Given the description of an element on the screen output the (x, y) to click on. 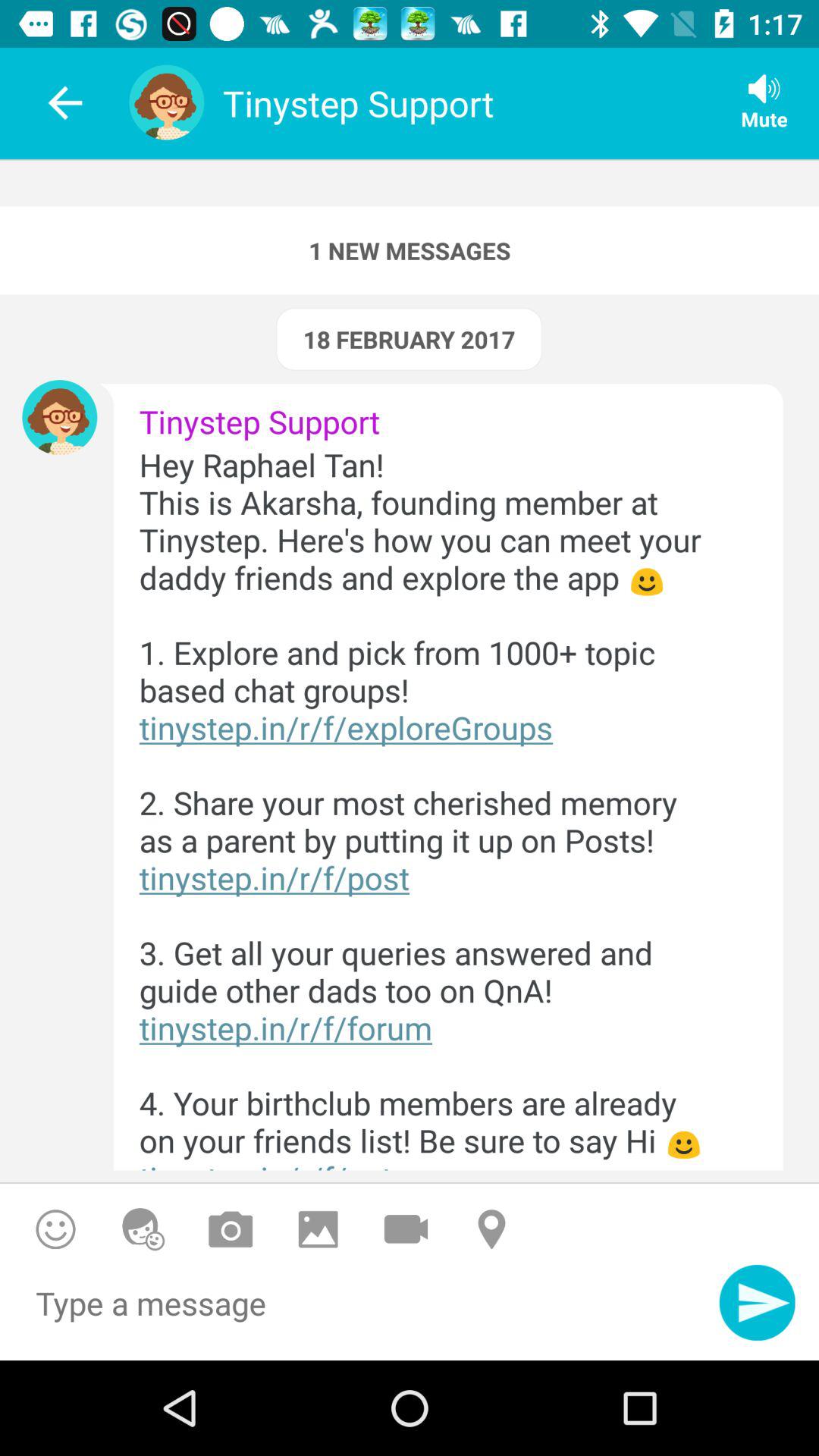
send (757, 1302)
